Given the description of an element on the screen output the (x, y) to click on. 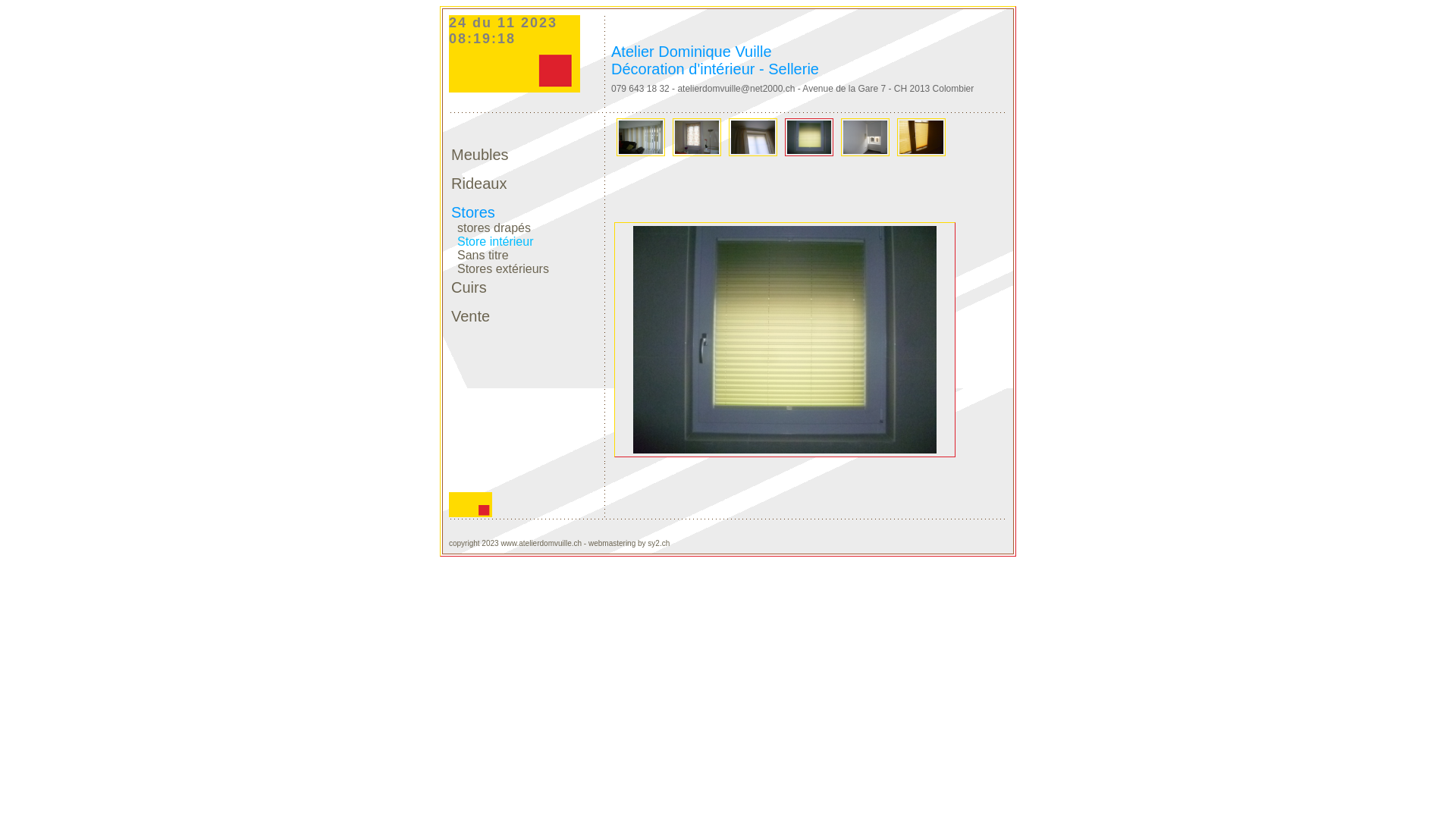
Vente Element type: text (470, 315)
Rideaux Element type: text (478, 183)
Meubles  Element type: text (481, 154)
Sans titre Element type: text (479, 251)
Cuirs Element type: text (468, 287)
